Given the description of an element on the screen output the (x, y) to click on. 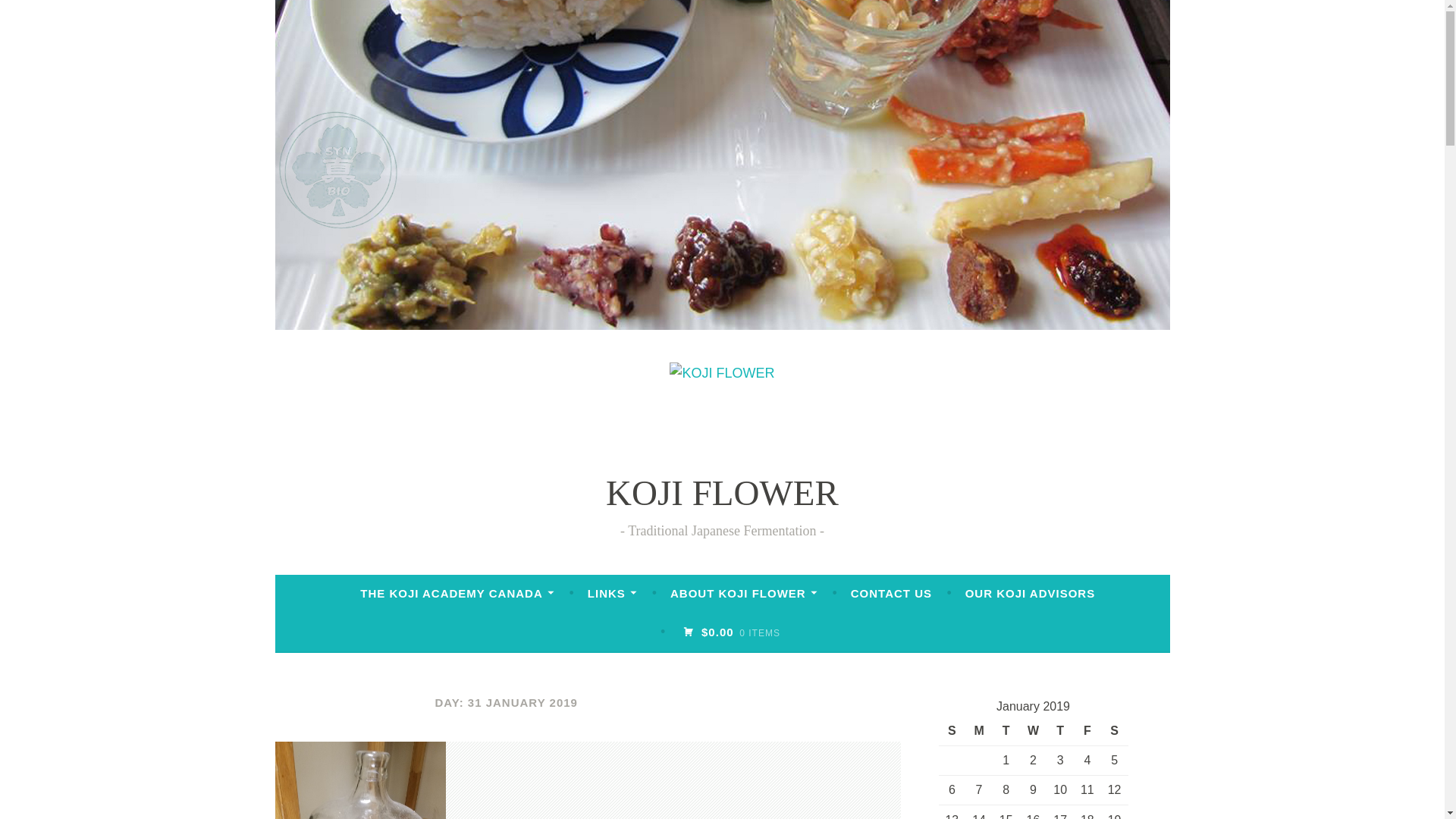
OUR KOJI ADVISORS (1029, 593)
Sunday (952, 729)
Tuesday (1006, 729)
ABOUT KOJI FLOWER (742, 593)
CONTACT US (890, 593)
Monday (978, 729)
Friday (1087, 729)
Saturday (1114, 729)
KOJI FLOWER (721, 492)
Thursday (1060, 729)
LINKS (612, 593)
THE KOJI ACADEMY CANADA (456, 593)
Wednesday (1033, 729)
View your shopping cart (731, 632)
